Given the description of an element on the screen output the (x, y) to click on. 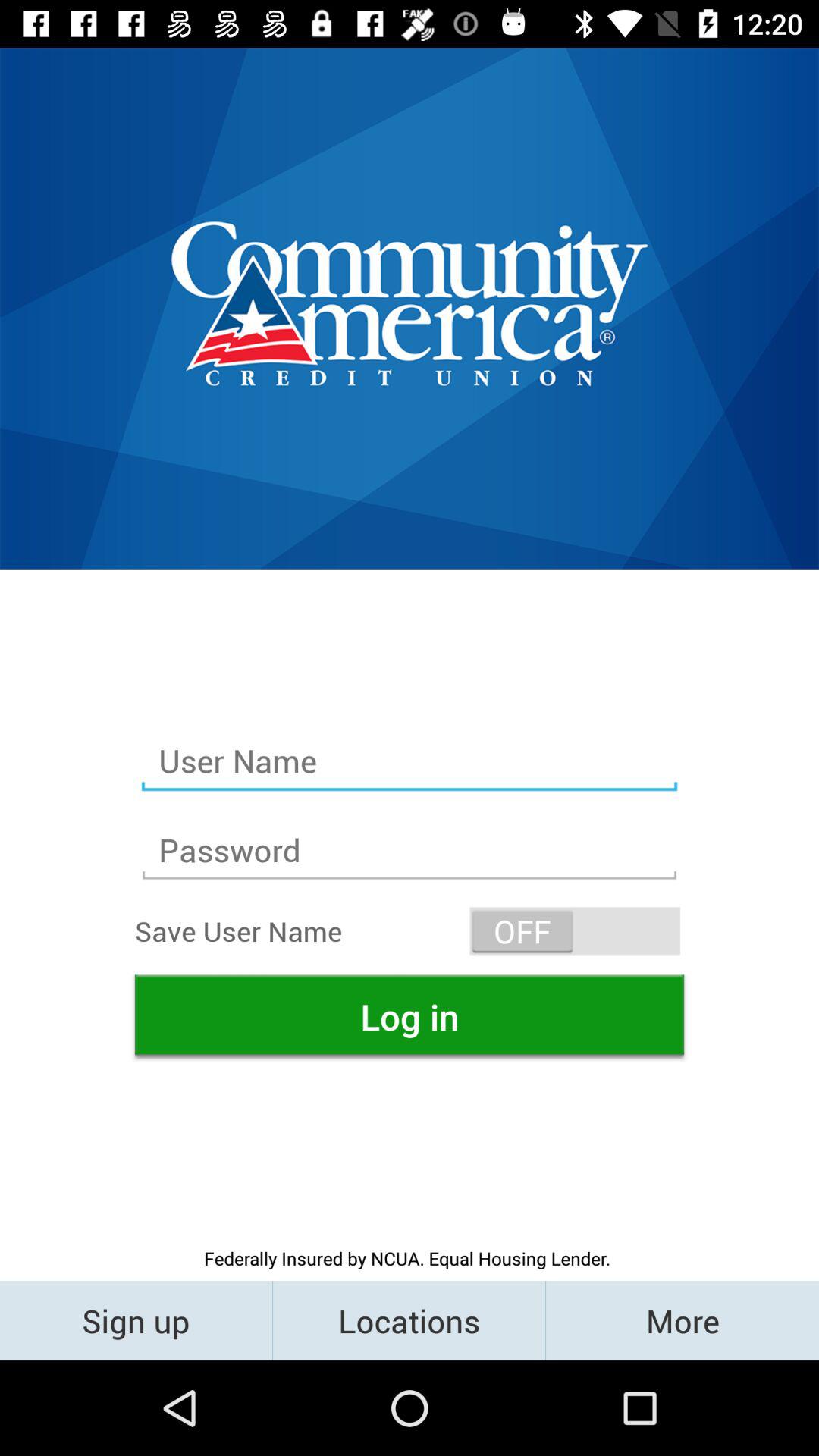
click on option left to more at bottom (408, 1320)
select the text next to locations (682, 1320)
tap on the log in button (409, 1016)
select off (574, 930)
